Given the description of an element on the screen output the (x, y) to click on. 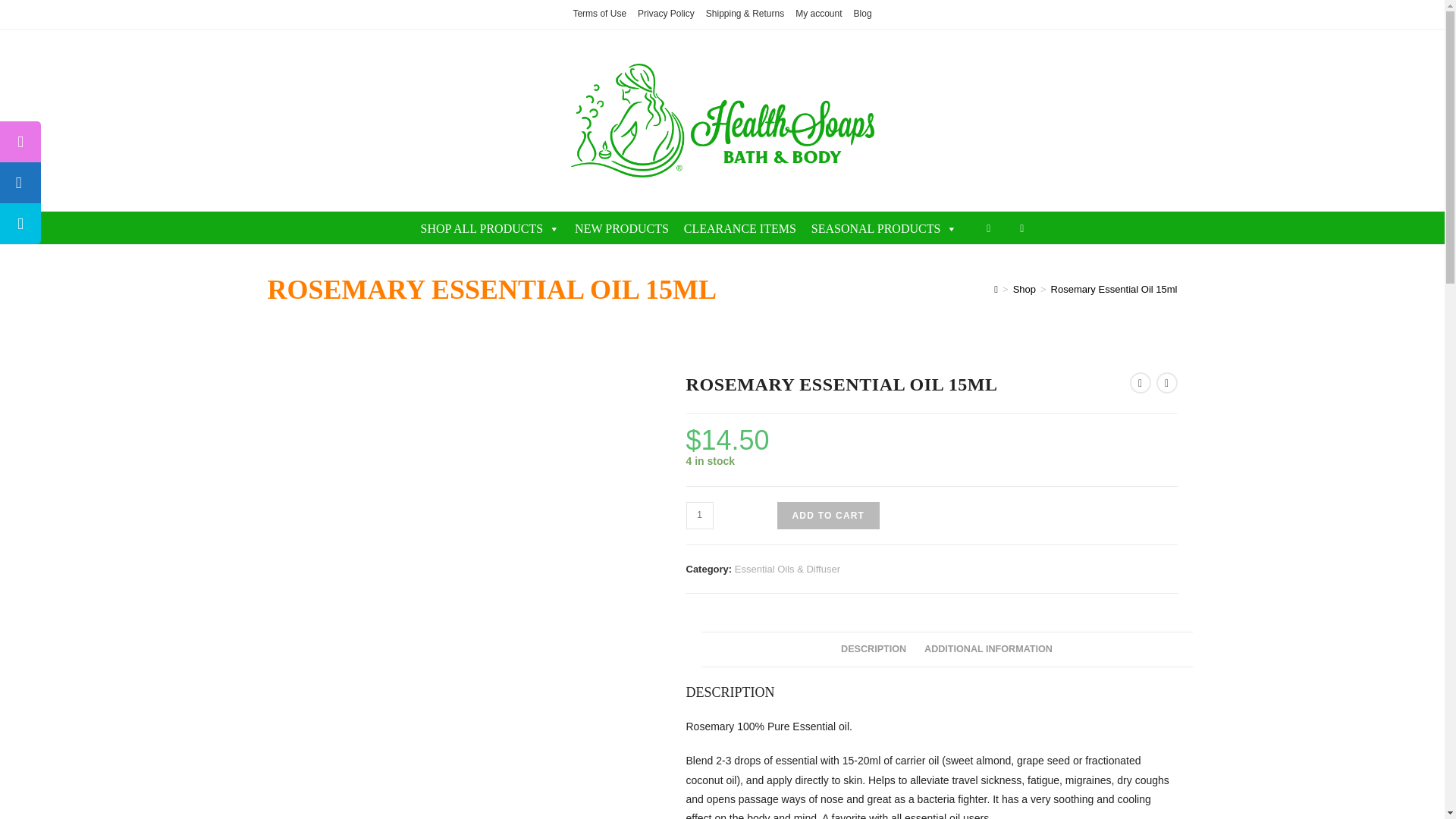
NEW PRODUCTS (622, 228)
SEASONAL PRODUCTS (884, 228)
Privacy Policy (665, 13)
1 (699, 515)
CLEARANCE ITEMS (740, 228)
Blog (862, 13)
My account (817, 13)
Terms of Use (599, 13)
SHOP ALL PRODUCTS (490, 228)
